Given the description of an element on the screen output the (x, y) to click on. 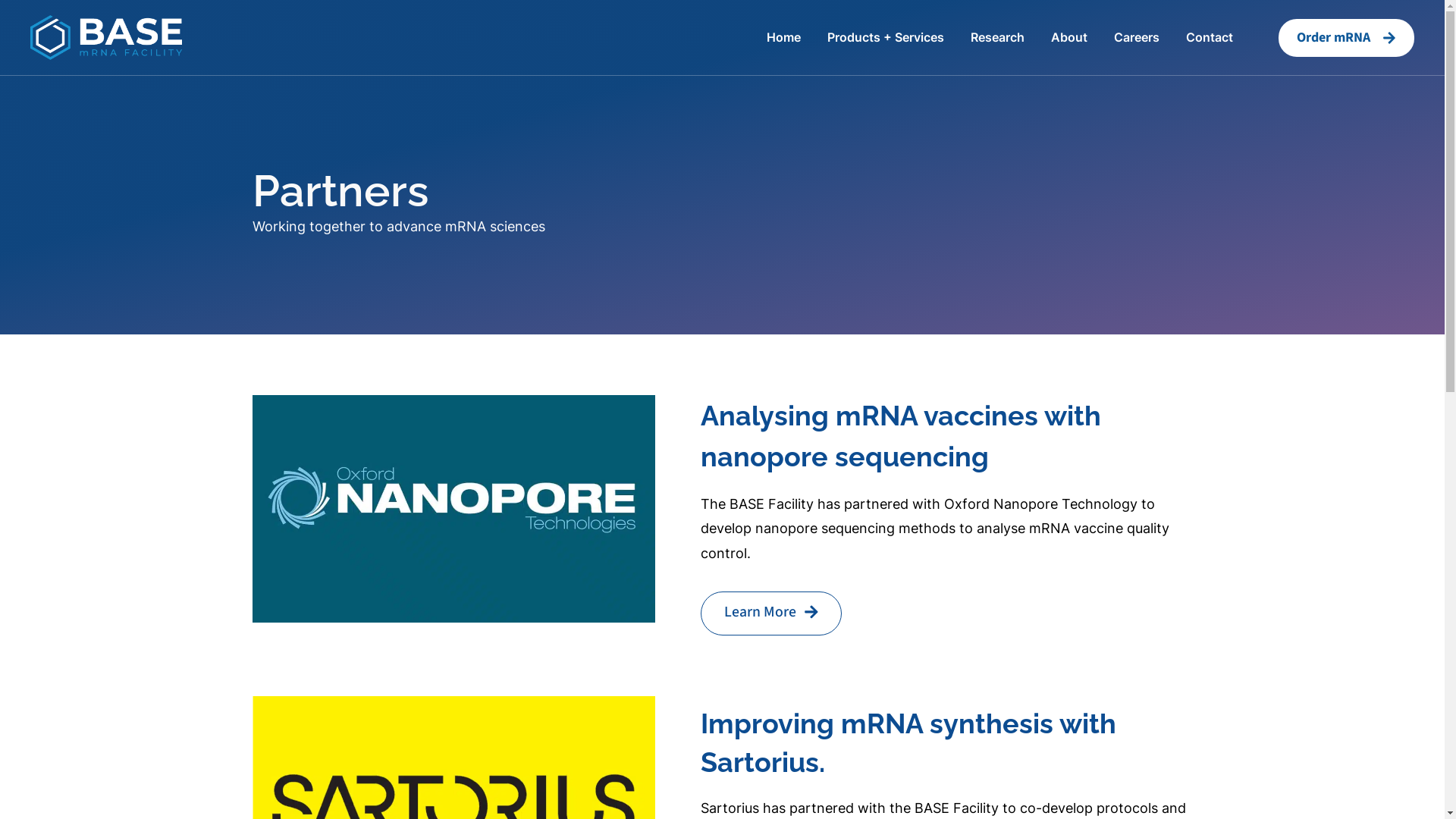
Products + Services Element type: text (885, 37)
About Element type: text (1069, 37)
Analysing mRNA vaccines with nanopore sequencing Element type: text (900, 435)
BASE_WHITE_CMYK Element type: hover (106, 35)
Home Element type: text (783, 37)
Learn More Element type: text (771, 613)
Research Element type: text (997, 37)
Order mRNA Element type: text (1346, 37)
Careers Element type: text (1136, 37)
Contact Element type: text (1209, 37)
Improving mRNA synthesis with Sartorius. Element type: text (908, 742)
